Given the description of an element on the screen output the (x, y) to click on. 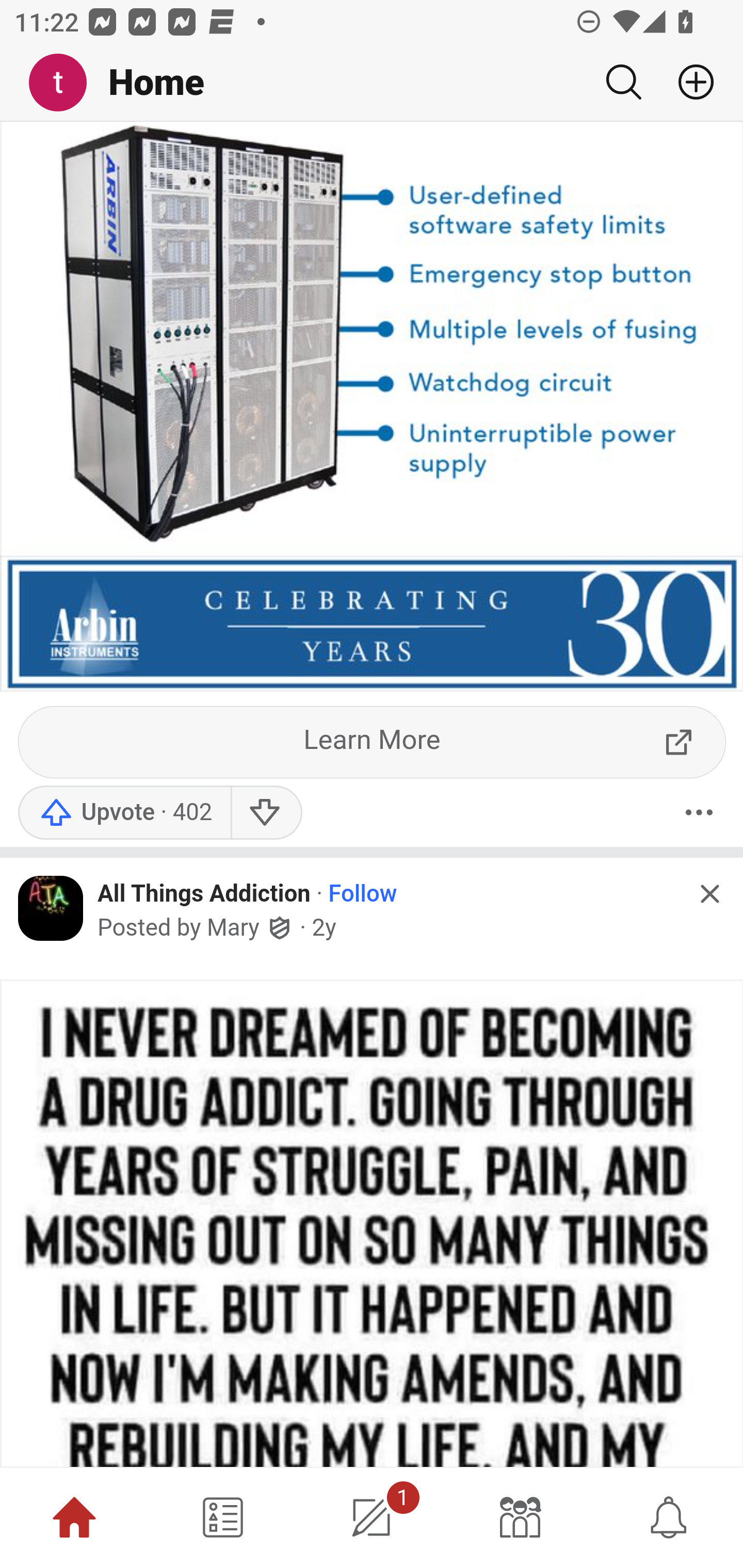
Me (64, 83)
Search (623, 82)
Add (688, 82)
Learn More ExternalLink (372, 741)
Upvote (124, 812)
Downvote (266, 812)
More (699, 812)
Hide (709, 892)
Icon for All Things Addiction (50, 907)
All Things Addiction (204, 894)
Follow (362, 895)
1 (371, 1517)
